Given the description of an element on the screen output the (x, y) to click on. 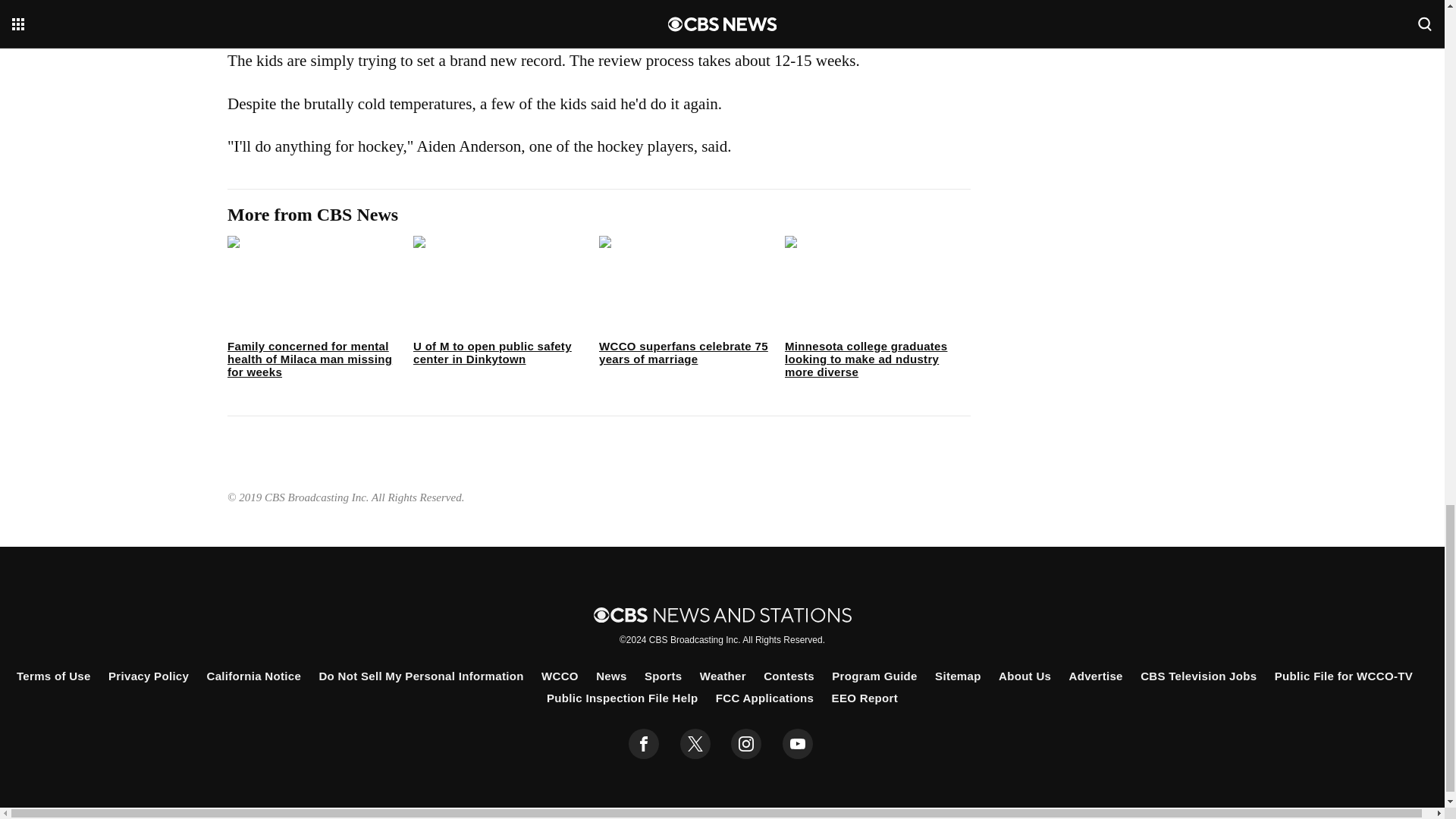
facebook (643, 743)
youtube (797, 743)
twitter (694, 743)
instagram (745, 743)
